Given the description of an element on the screen output the (x, y) to click on. 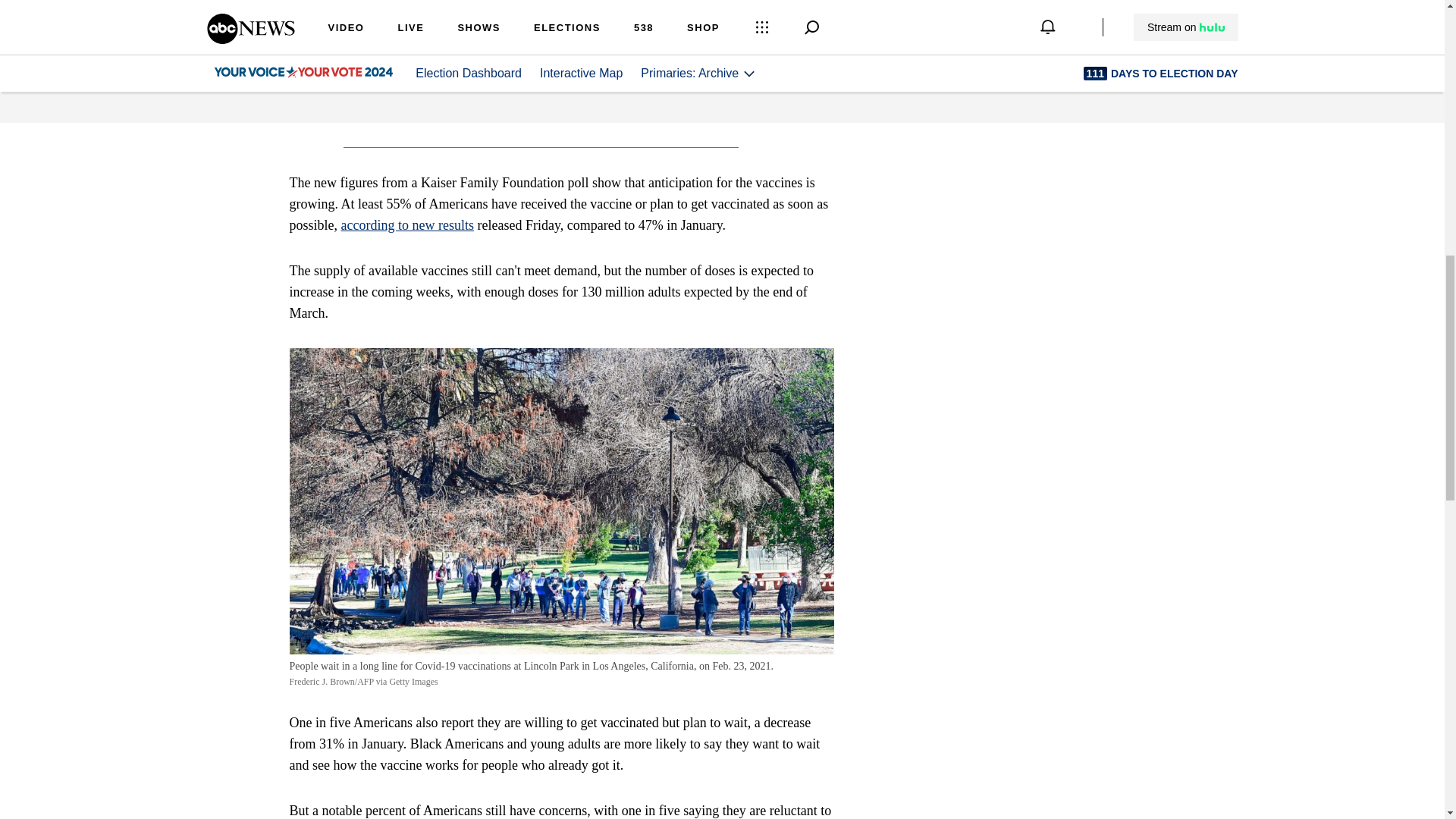
MORE: What to know about COVID-19 vaccines and how they work (560, 116)
according to new results (407, 224)
according to Centers for Disease Control and Prevention data (547, 18)
